Given the description of an element on the screen output the (x, y) to click on. 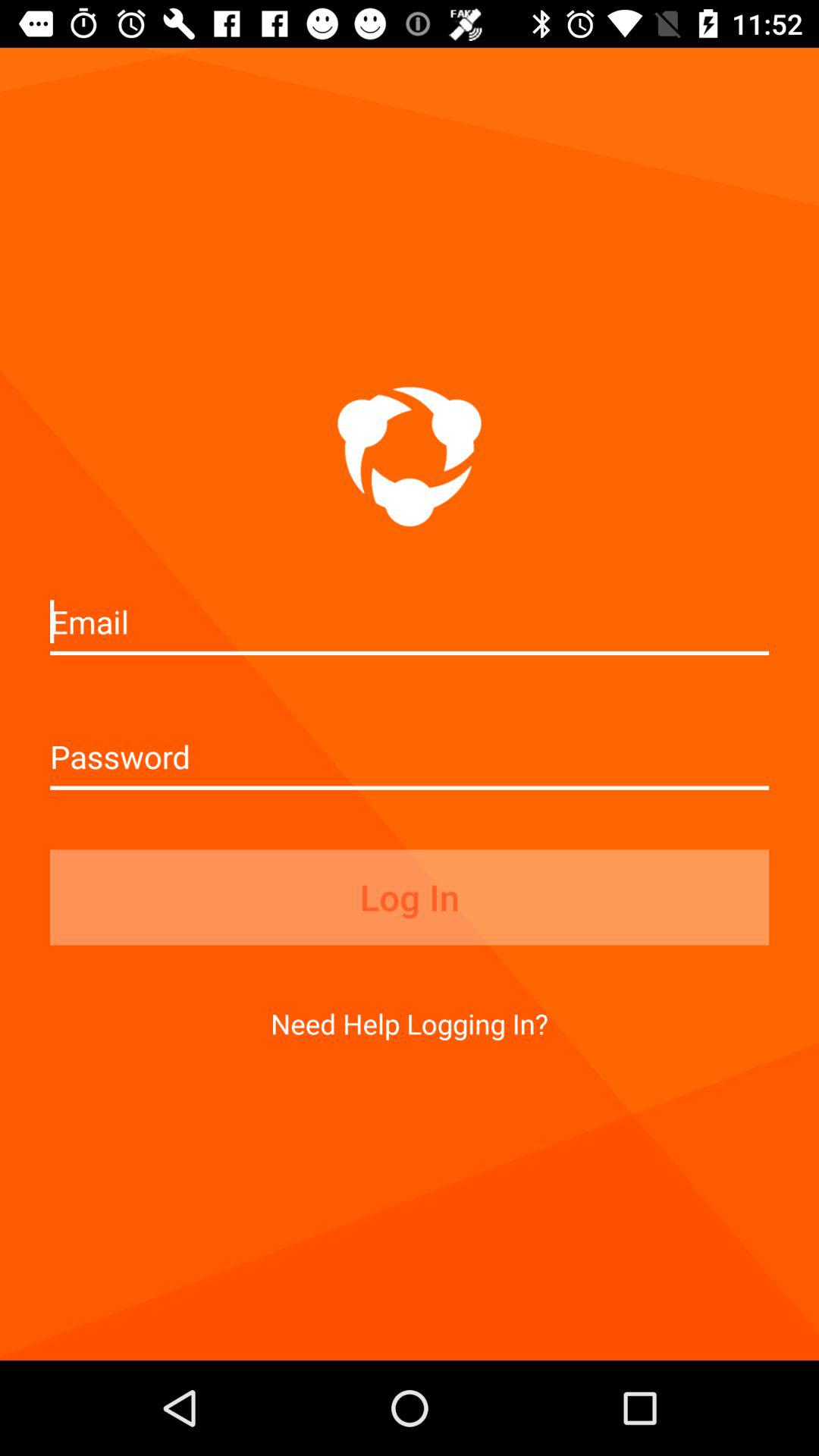
choose item above the need help logging icon (409, 897)
